Given the description of an element on the screen output the (x, y) to click on. 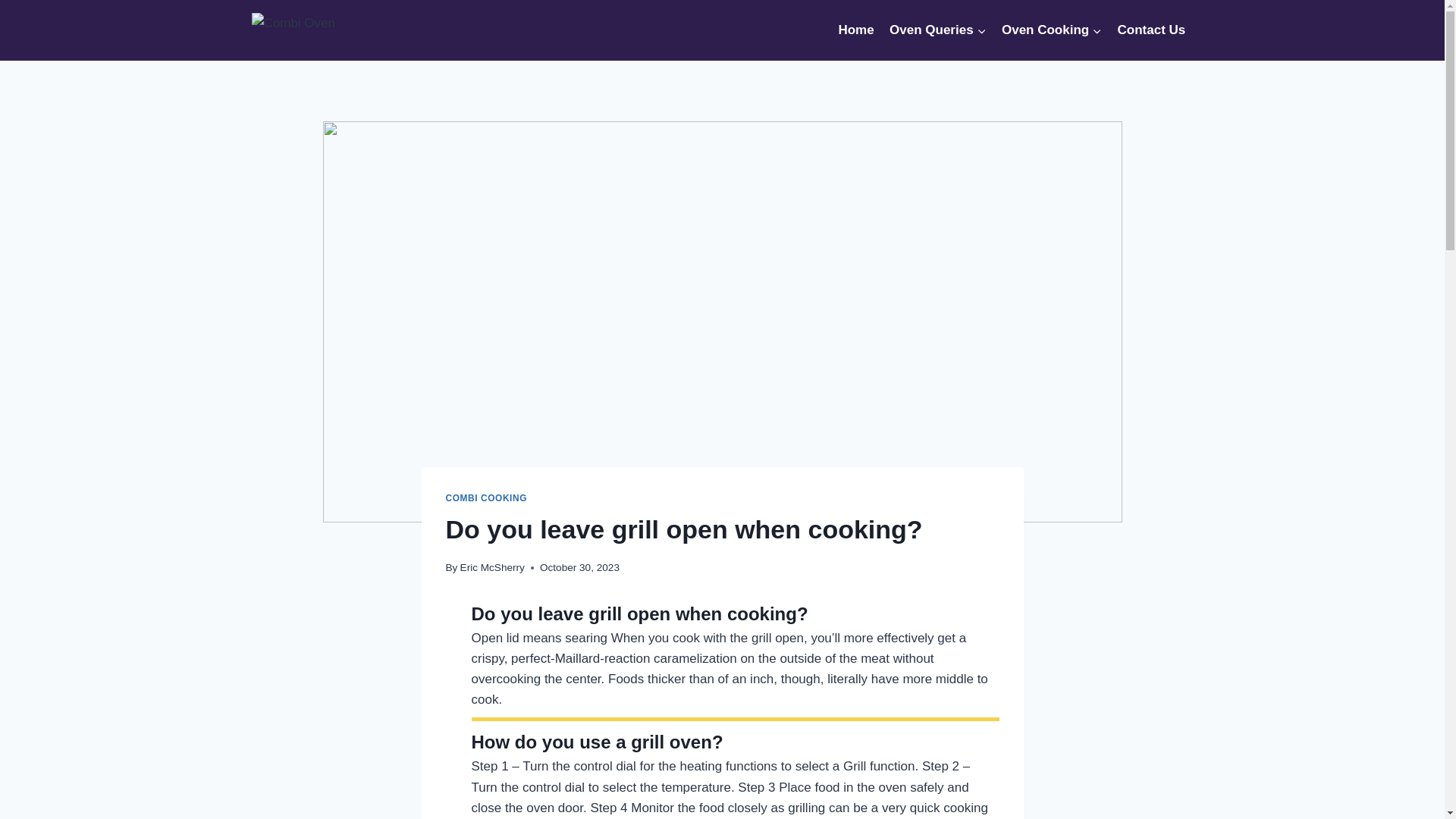
COMBI COOKING (486, 498)
Eric McSherry (492, 567)
Home (855, 30)
Contact Us (1150, 30)
Oven Queries (938, 30)
Oven Cooking (1051, 30)
